Given the description of an element on the screen output the (x, y) to click on. 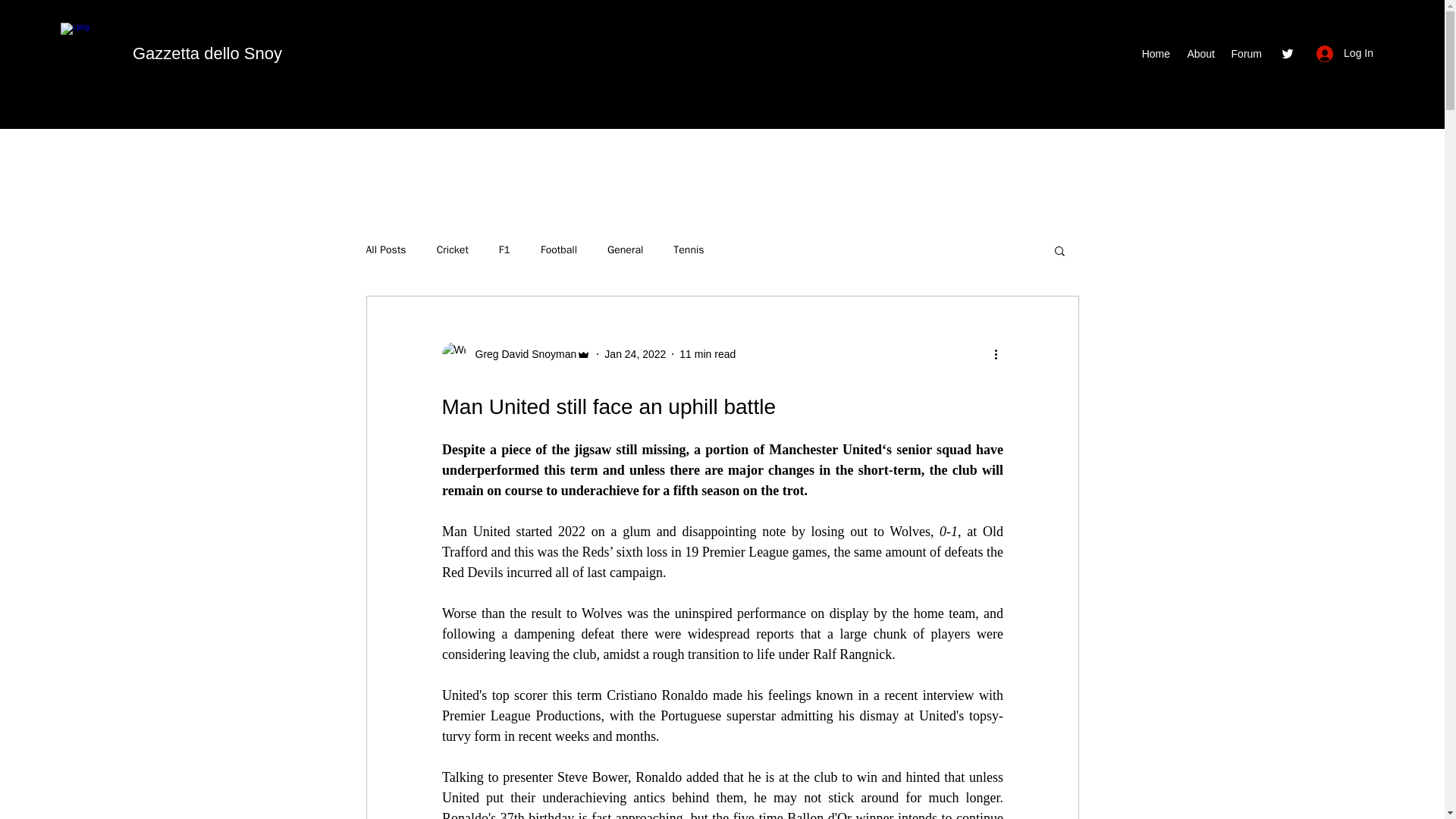
Football (558, 250)
Forum (1246, 53)
Log In (1345, 53)
Jan 24, 2022 (634, 353)
Greg David Snoyman (520, 353)
Greg David Snoyman (516, 354)
All Posts (385, 250)
Home (1154, 53)
Tennis (687, 250)
11 min read (707, 353)
